Given the description of an element on the screen output the (x, y) to click on. 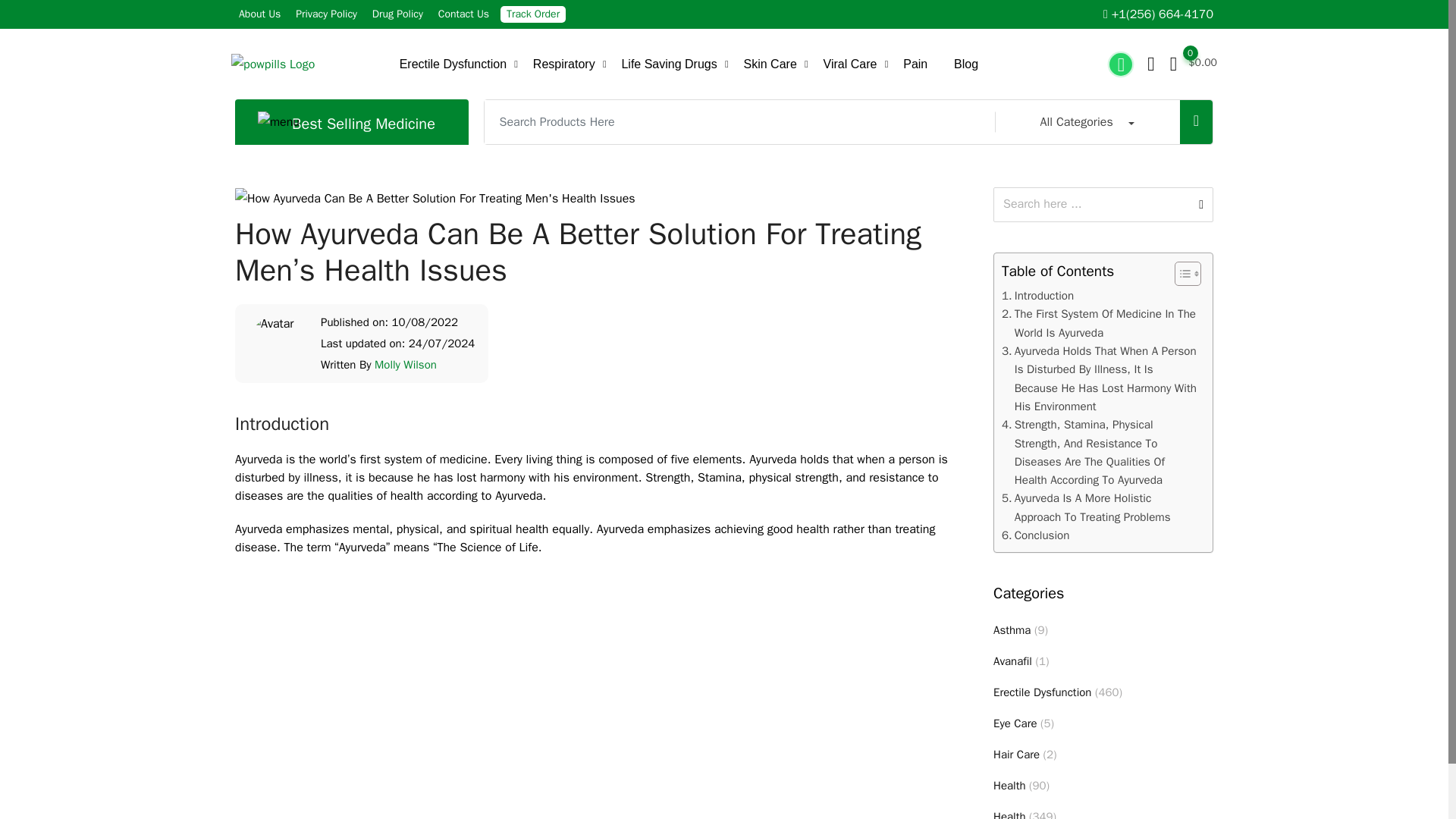
Contact Us (463, 13)
About Us (259, 13)
Introduction (1037, 295)
Respiratory (564, 63)
The First System Of Medicine In The World Is Ayurveda (1098, 323)
Drug Policy (397, 13)
Privacy Policy (325, 13)
Track Order (532, 13)
Ayurveda Is A More Holistic Approach To Treating Problems (1098, 507)
Conclusion (1034, 535)
Search (1091, 204)
Life Saving Drugs (669, 63)
Skin Care (770, 63)
